Given the description of an element on the screen output the (x, y) to click on. 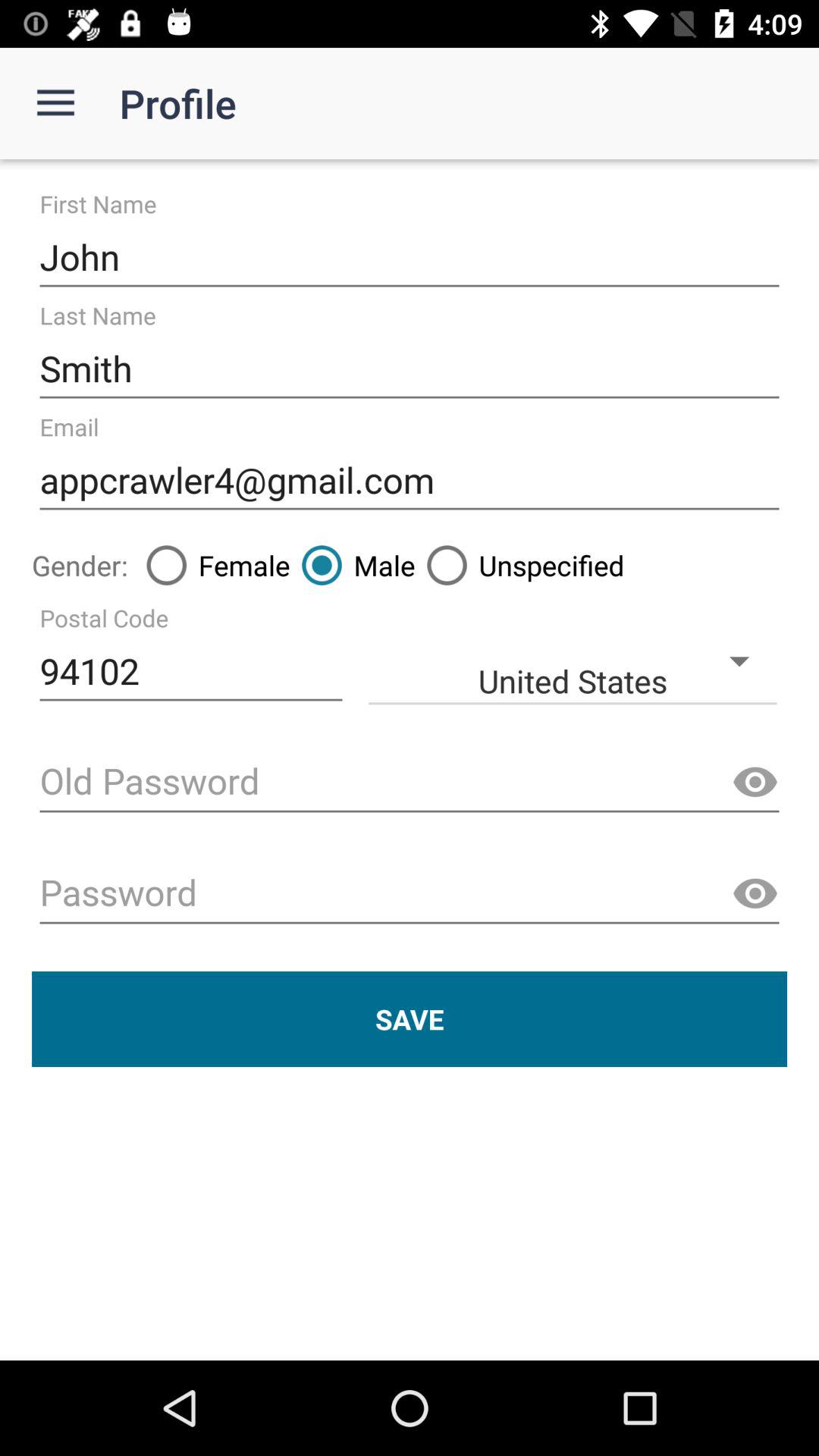
show password (755, 782)
